Given the description of an element on the screen output the (x, y) to click on. 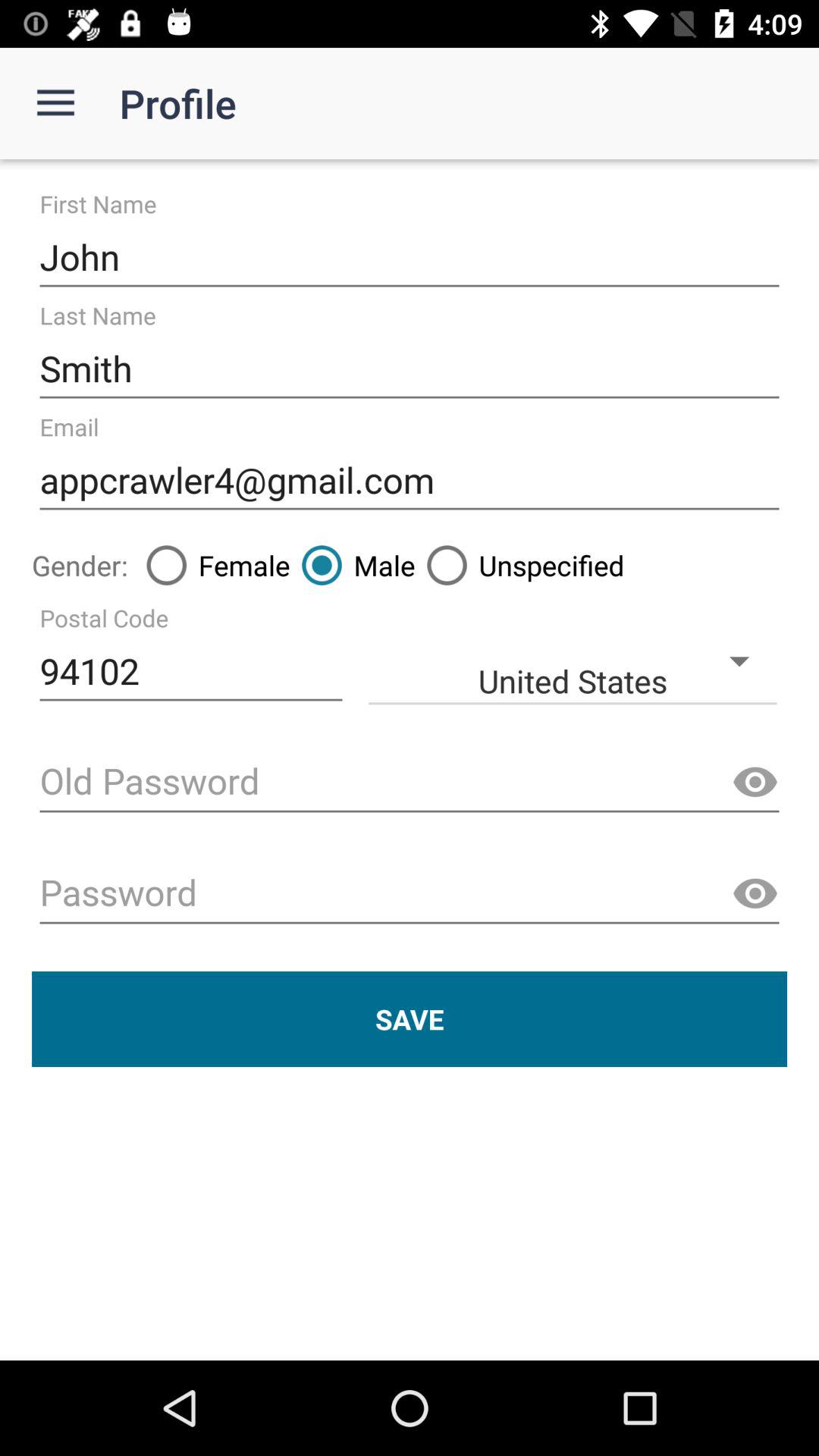
show password (755, 782)
